Given the description of an element on the screen output the (x, y) to click on. 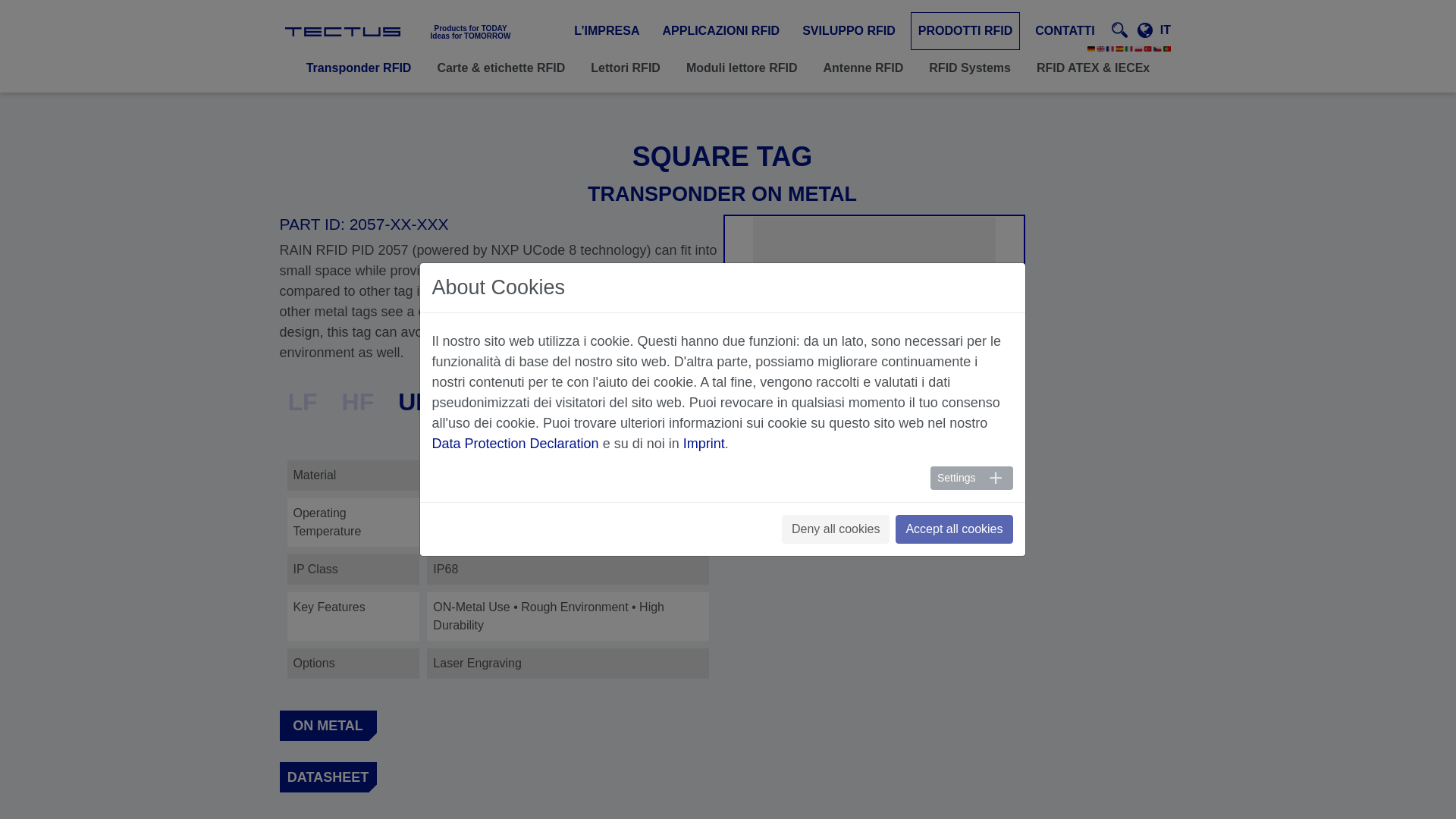
SVILUPPO RFID (848, 30)
CONTATTI (1064, 30)
DATASHEET (330, 779)
TECTUS (382, 30)
Transponder RFID (359, 64)
Search (1138, 103)
Lettori RFID (624, 64)
Antenne RFID (863, 64)
PRODOTTI RFID (965, 30)
